Given the description of an element on the screen output the (x, y) to click on. 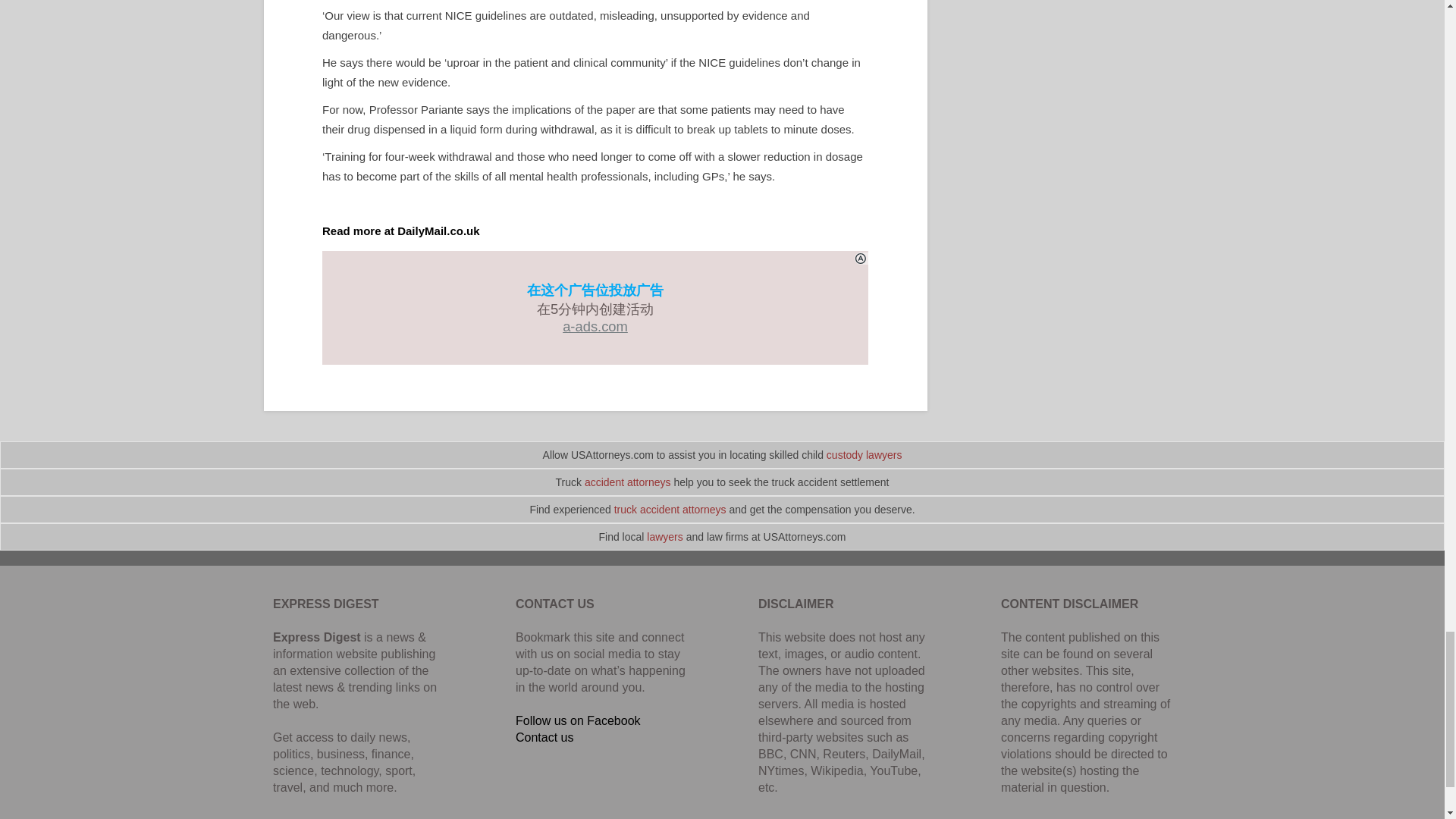
accident attorneys (628, 481)
custody lawyers (864, 454)
truck accident attorneys (670, 509)
lawyers (664, 536)
Read more at DailyMail.co.uk (400, 230)
